Given the description of an element on the screen output the (x, y) to click on. 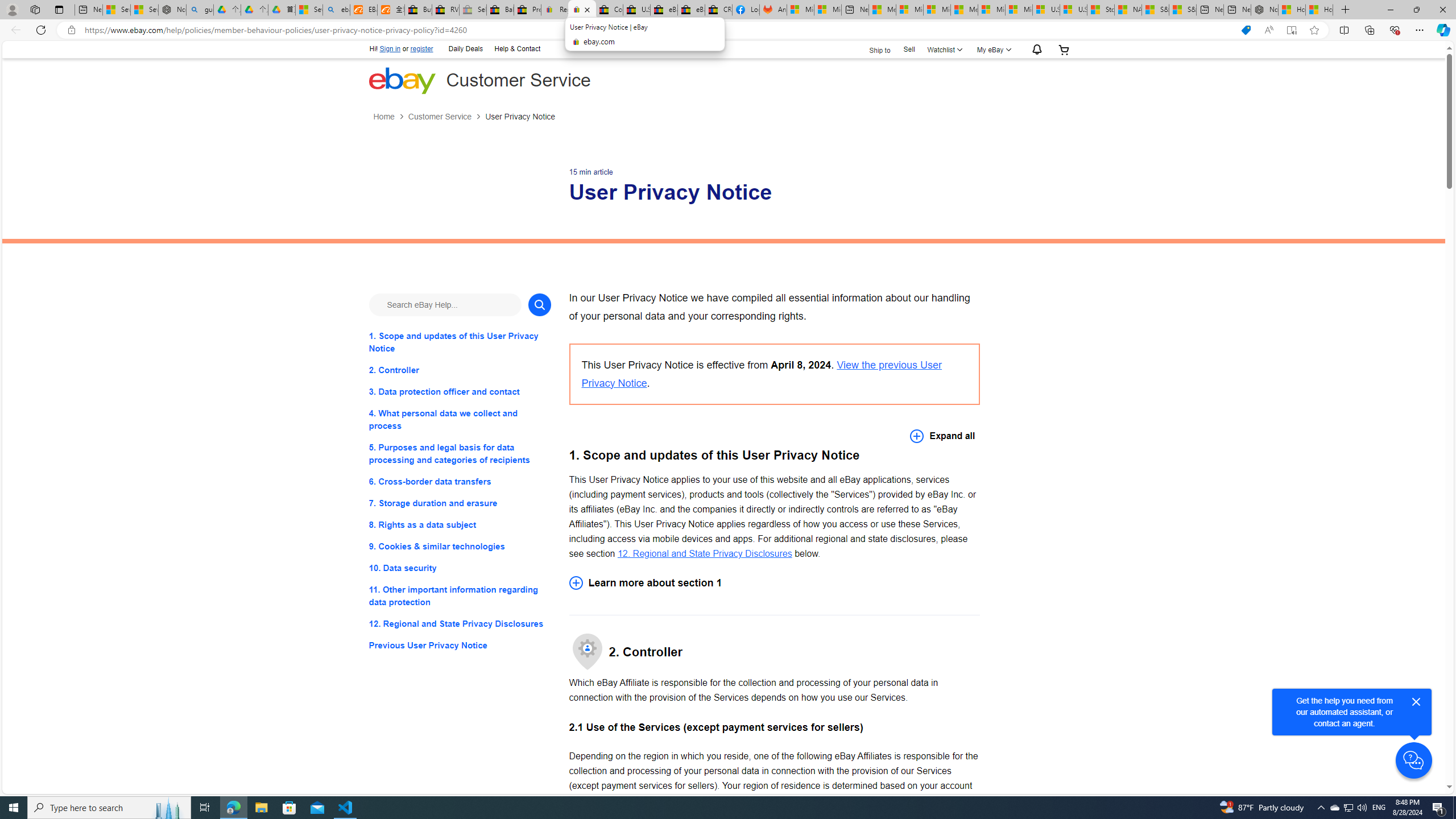
Consumer Health Data Privacy Policy - eBay Inc. (609, 9)
6. Cross-border data transfers (459, 481)
1. Scope and updates of this User Privacy Notice (459, 341)
eBay Home (401, 80)
User Privacy Notice (520, 117)
AutomationID: gh-eb-Alerts (1035, 49)
4. What personal data we collect and process (459, 419)
Customer Service (446, 117)
10. Data security (459, 567)
